Given the description of an element on the screen output the (x, y) to click on. 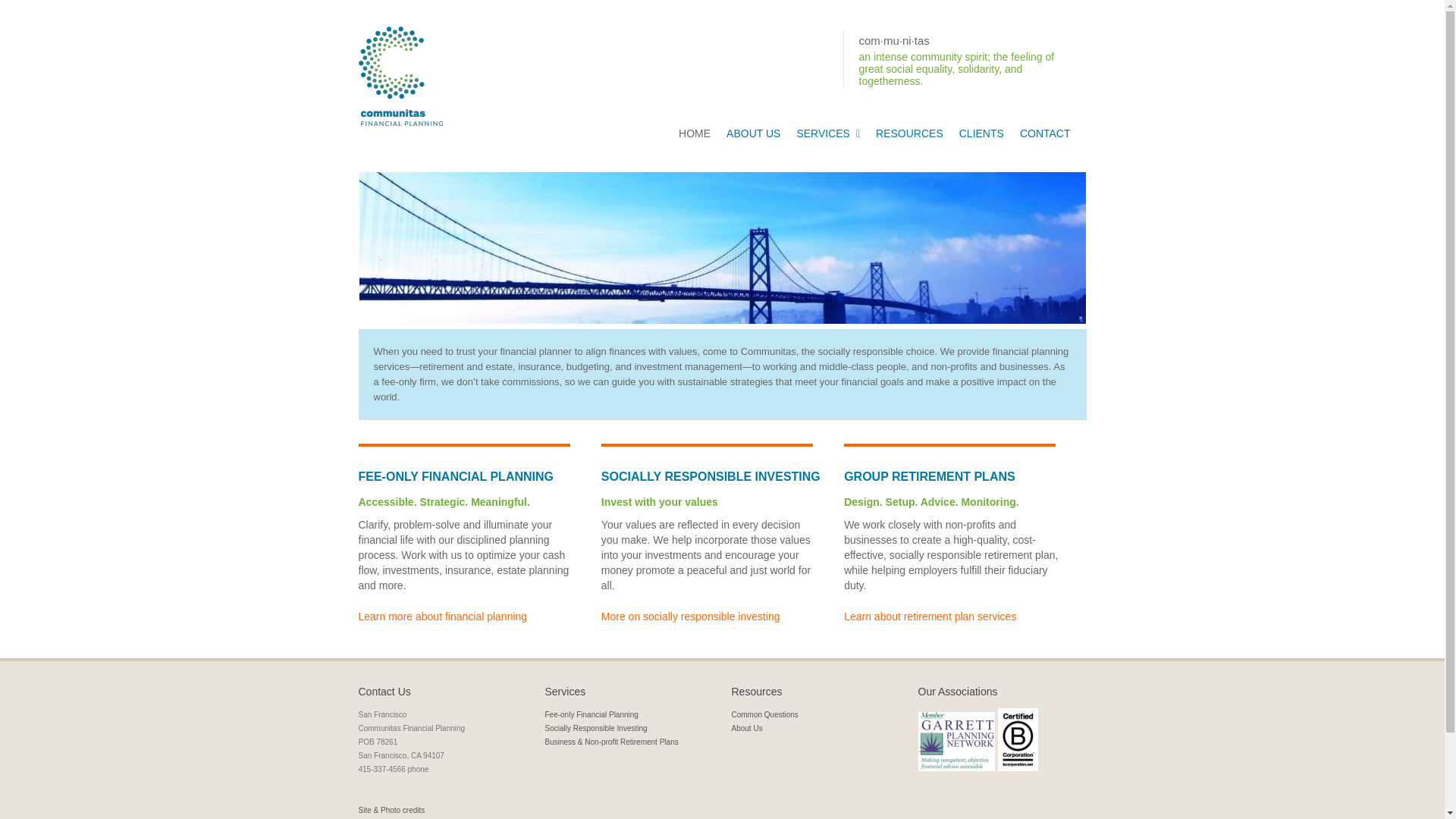
For clients (981, 133)
Financial Planning (442, 616)
CONTACT (1044, 133)
SOCIALLY RESPONSIBLE INVESTING (690, 616)
More on socially responsible investing (690, 616)
RESOURCES (908, 133)
Head on back to the home page! (694, 133)
Common Questions (763, 714)
SERVICES (828, 133)
Common Questions and Links (908, 133)
Retirement Plans (930, 616)
HOME (694, 133)
Socially Responsible Investing (595, 727)
Learn about retirement plan services (930, 616)
About Us (745, 727)
